Given the description of an element on the screen output the (x, y) to click on. 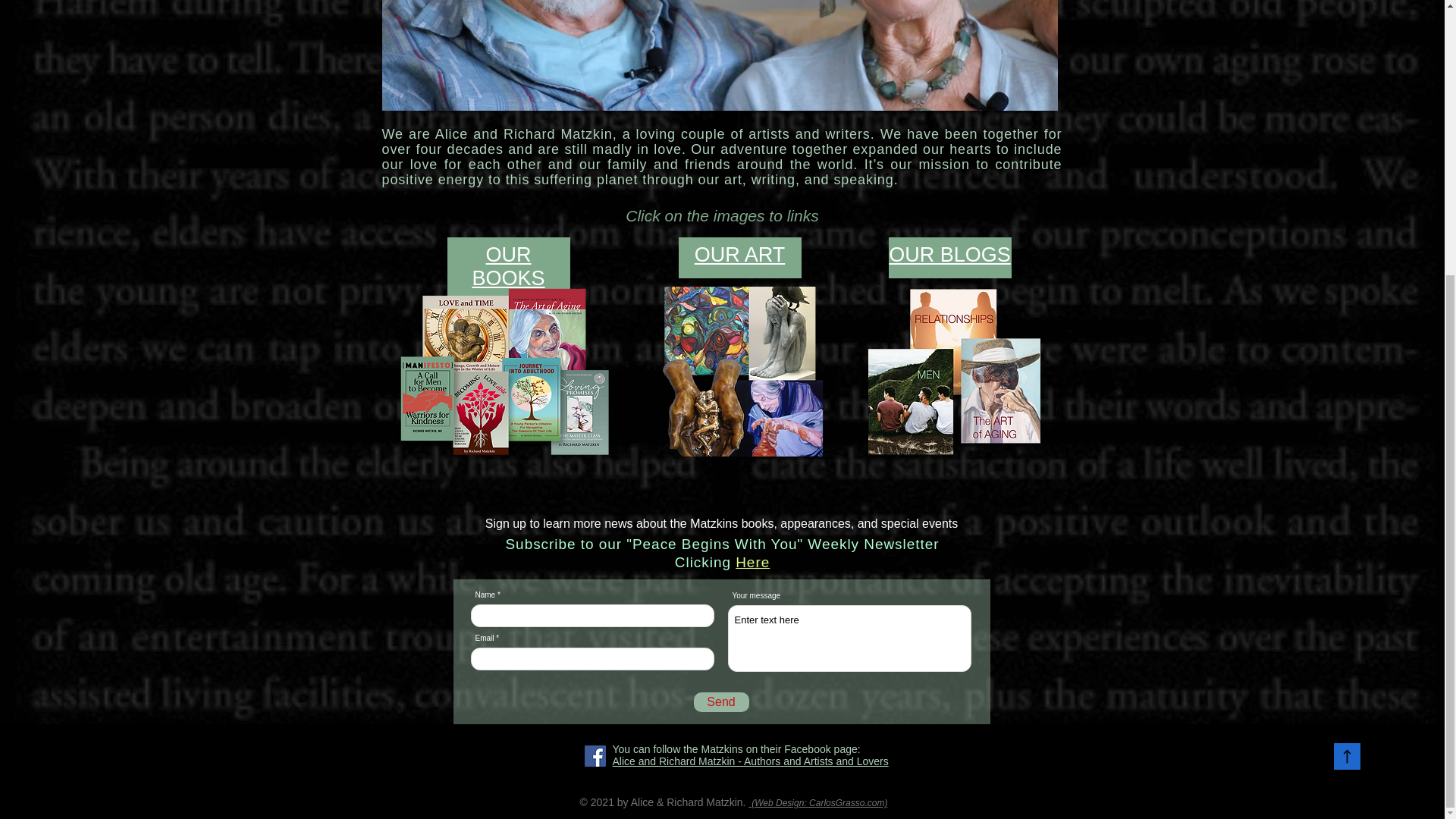
Send (720, 701)
Here (752, 562)
OUR BLOGS (949, 254)
Alice and Richard Matzkin - Authors and Artists and Lovers (750, 761)
OUR BOOKS (507, 266)
OUR ART (740, 254)
